Given the description of an element on the screen output the (x, y) to click on. 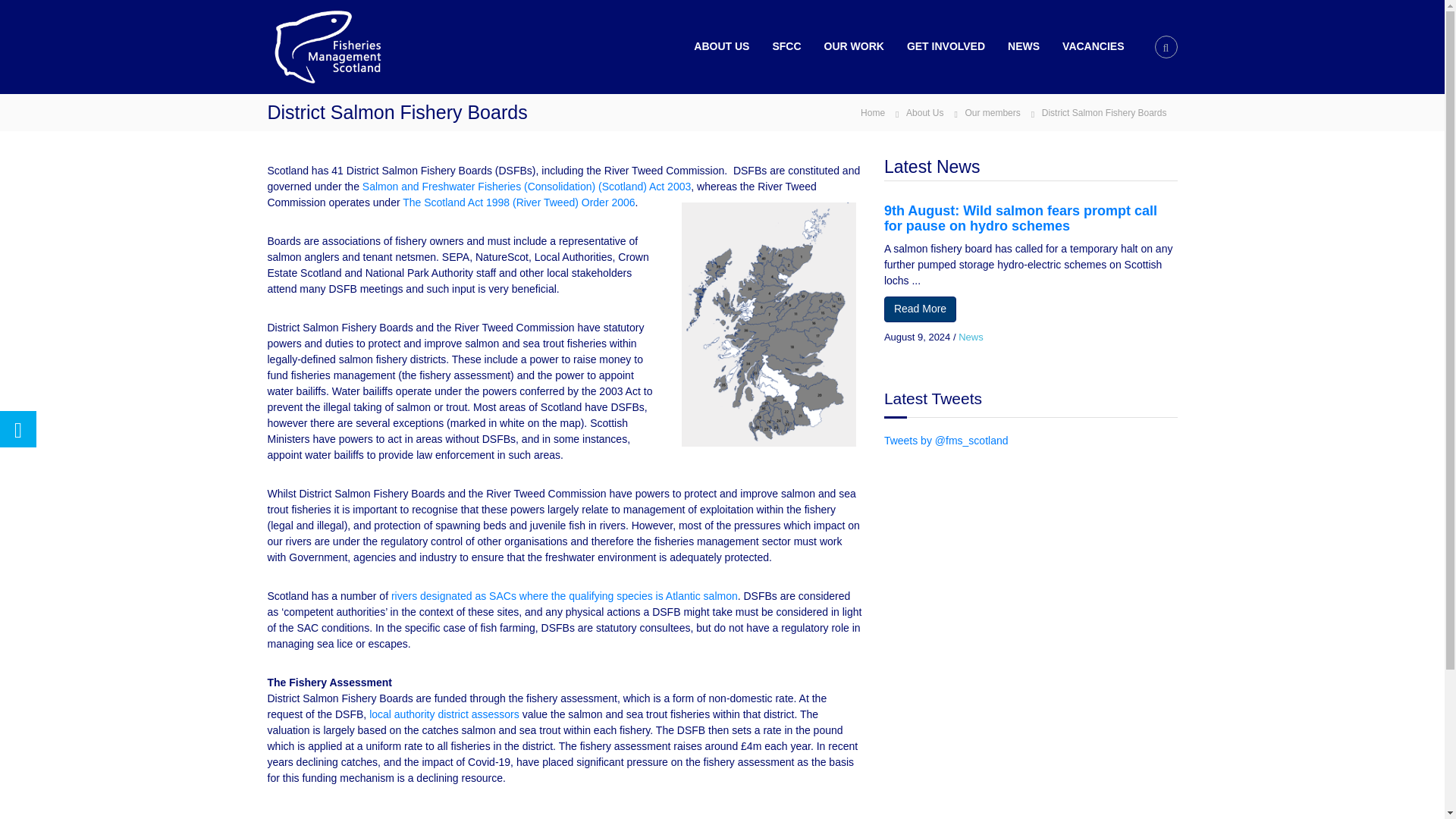
SFCC (785, 46)
Home (872, 111)
Our members (991, 111)
Our members (991, 111)
VACANCIES (1093, 46)
Read More (919, 309)
About Us (924, 111)
News (971, 337)
